Given the description of an element on the screen output the (x, y) to click on. 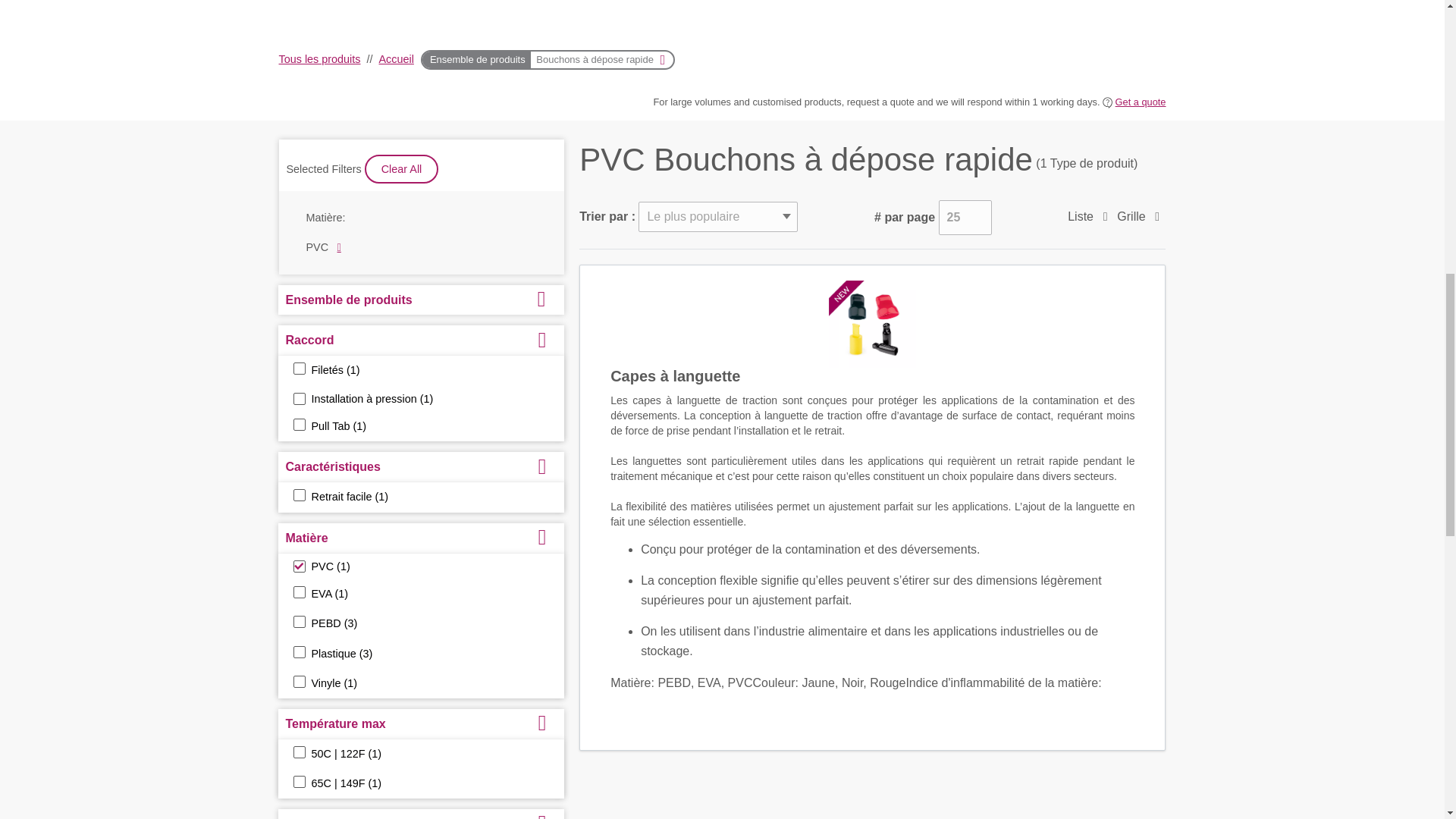
Plastique (298, 652)
Retrait facile (298, 494)
EVA (298, 592)
PEBD (298, 621)
Vinyle (298, 681)
Pull Tab (298, 424)
PVC (298, 566)
